Given the description of an element on the screen output the (x, y) to click on. 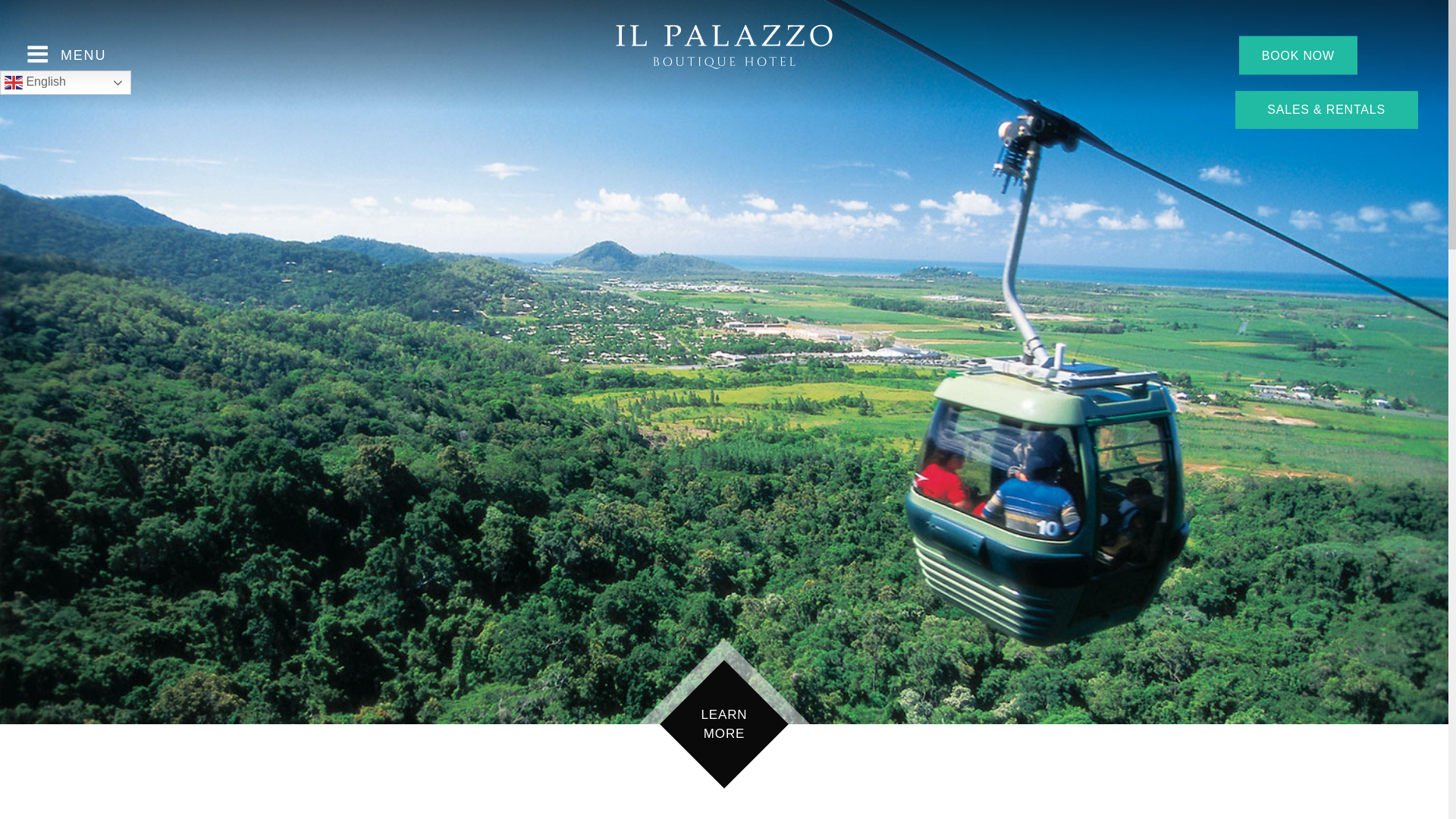
SALES & RENTALS Element type: text (1326, 109)
BOOK NOW Element type: text (1298, 54)
MENU Element type: text (64, 55)
LEARN
MORE Element type: text (723, 724)
il Palazzo Element type: hover (724, 46)
English Element type: text (65, 82)
